Given the description of an element on the screen output the (x, y) to click on. 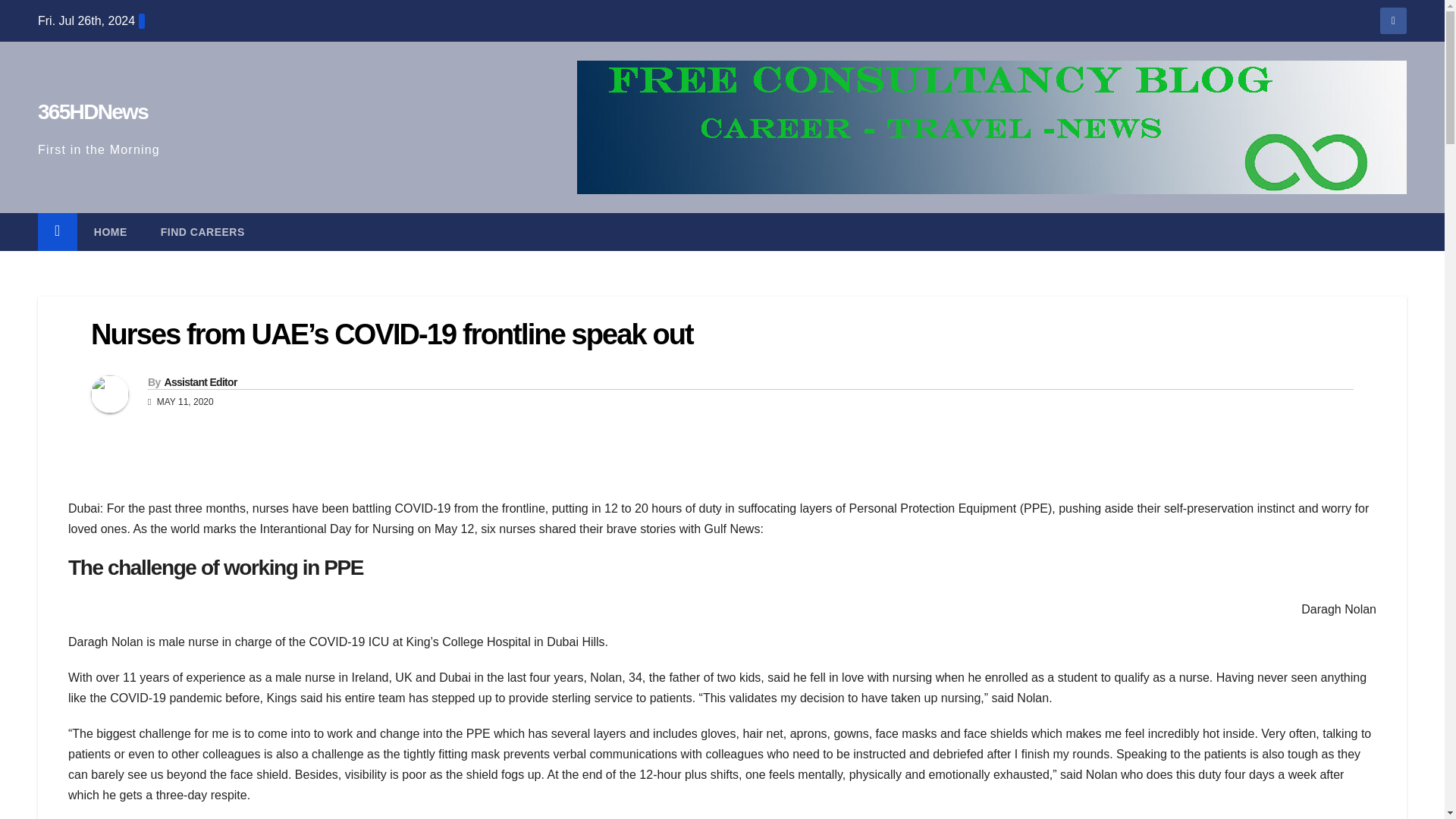
365HDNews (92, 111)
HOME (110, 231)
Find Careers (203, 231)
FIND CAREERS (203, 231)
Home (110, 231)
Assistant Editor (199, 381)
